Given the description of an element on the screen output the (x, y) to click on. 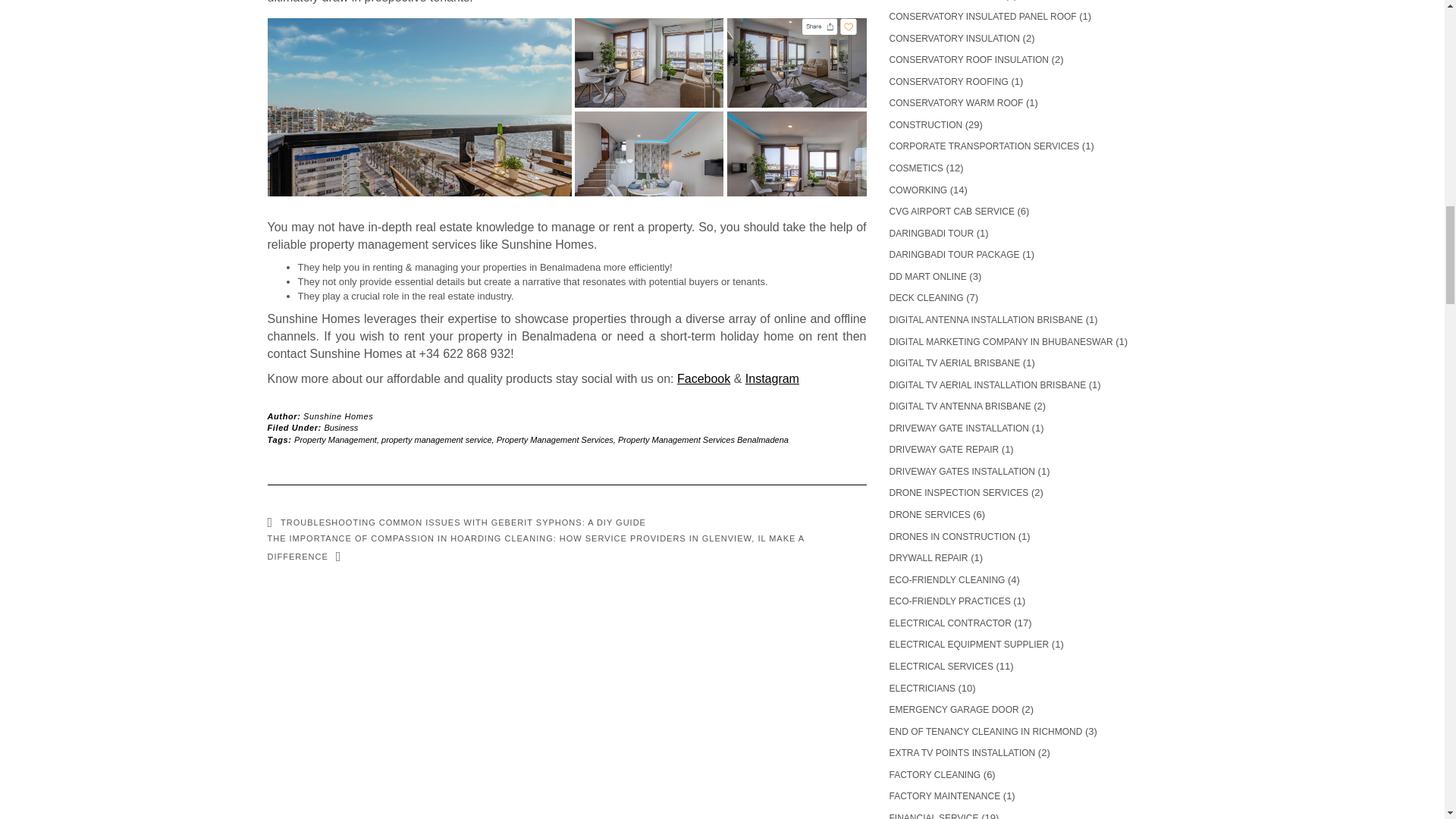
Facebook (703, 378)
Business (341, 427)
Property Management Services (554, 439)
Sunshine Homes (337, 415)
property management service (436, 439)
Instagram (772, 378)
Property Management (335, 439)
Posts by Sunshine Homes (337, 415)
Property Management Services Benalmadena (703, 439)
